Given the description of an element on the screen output the (x, y) to click on. 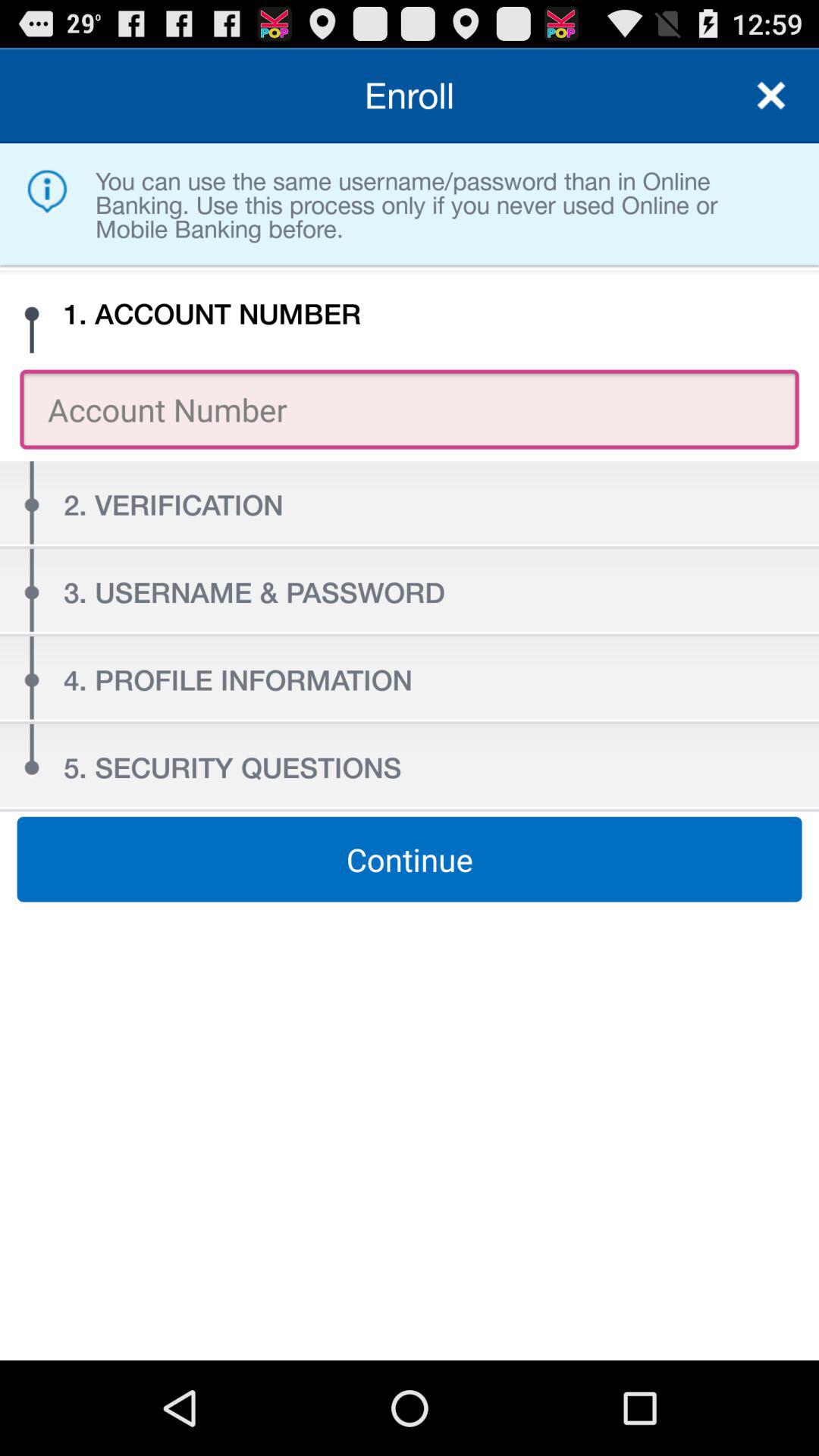
insert account number (409, 409)
